Given the description of an element on the screen output the (x, y) to click on. 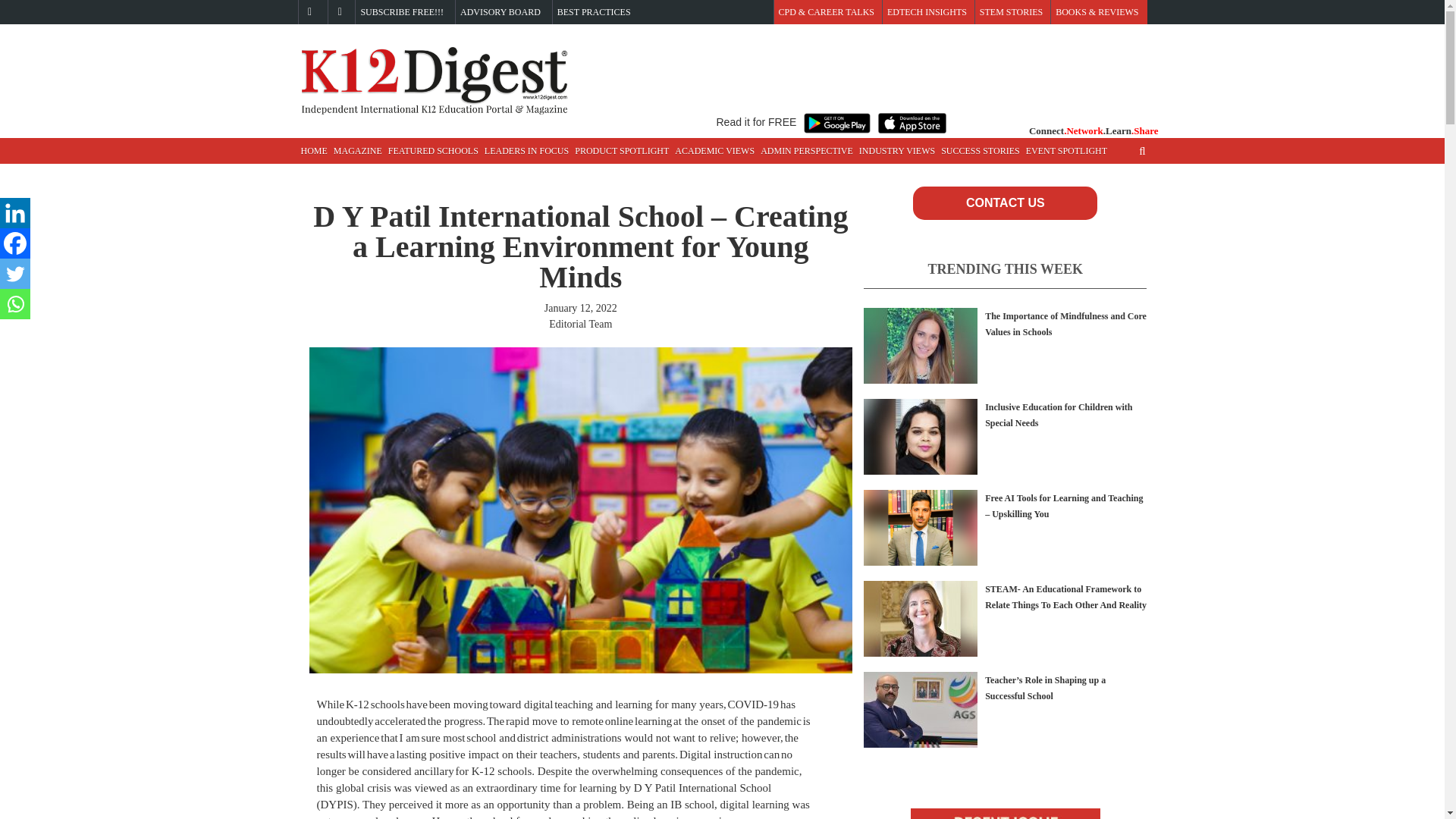
ADVISORY BOARD (500, 12)
ADMIN PERSPECTIVE (806, 150)
EDTECH INSIGHTS (927, 12)
Facebook (15, 243)
SUBSCRIBE FREE!!! (401, 12)
FEATURED SCHOOLS (433, 150)
INDUSTRY VIEWS (896, 150)
SUCCESS STORIES (979, 150)
STEM STORIES (1010, 12)
LEADERS IN FOCUS (526, 150)
